Given the description of an element on the screen output the (x, y) to click on. 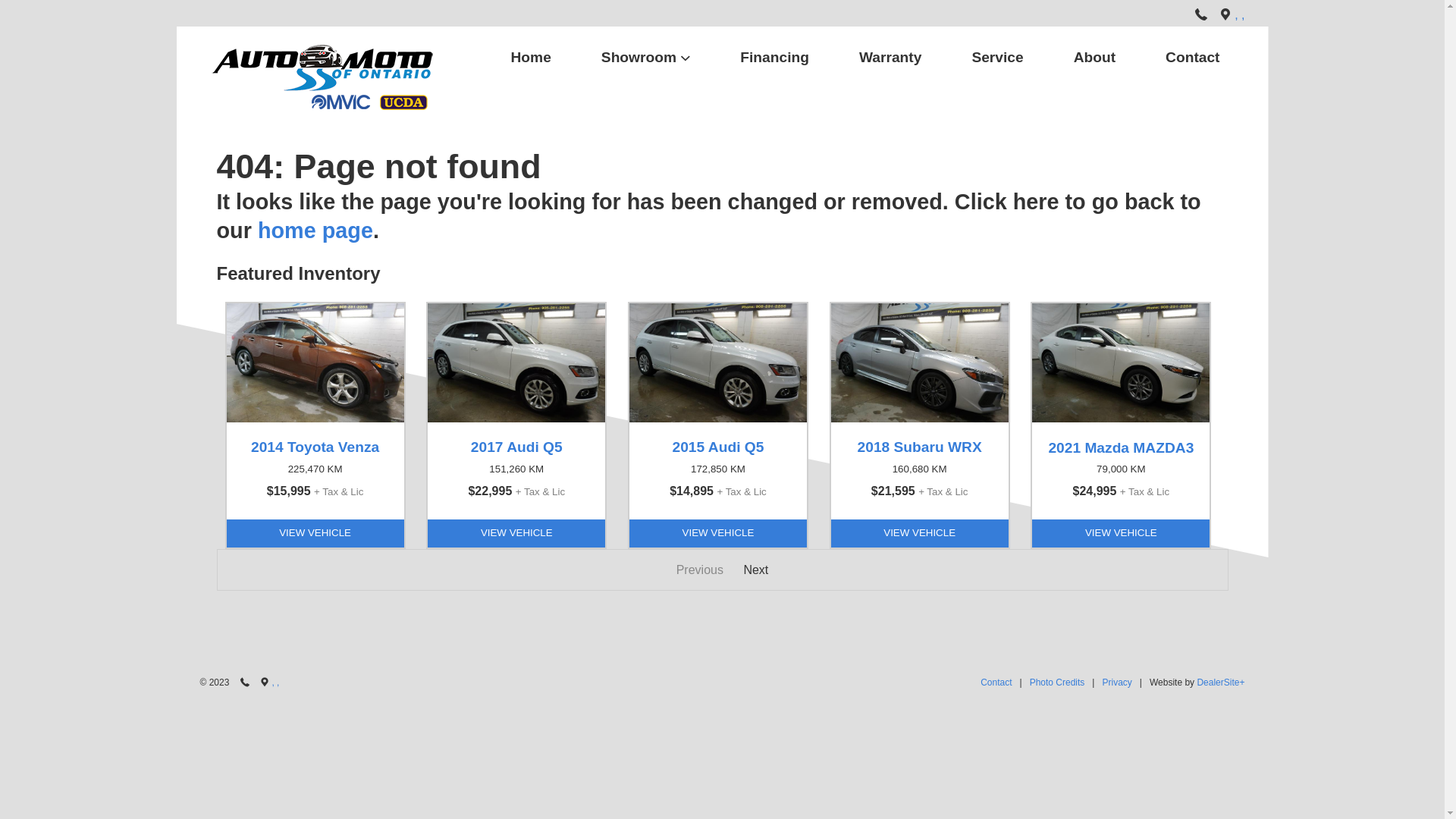
VIEW VEHICLE Element type: text (1120, 532)
2017 Audi Q5 Element type: text (516, 447)
Warranty Element type: text (890, 57)
2018 Subaru WRX Element type: text (919, 447)
2021 Mazda MAZDA3 Element type: text (1120, 447)
Financing Element type: text (774, 57)
Contact Element type: text (1192, 57)
Privacy Element type: text (1116, 682)
VIEW VEHICLE Element type: text (919, 532)
Skip to Menu Element type: text (721, 8)
DealerSite+ Element type: text (1220, 682)
, , Element type: text (1239, 14)
VIEW VEHICLE Element type: text (516, 532)
, , Element type: text (275, 682)
About Element type: text (1094, 57)
home page Element type: text (315, 230)
2014 Toyota Venza Element type: text (314, 447)
VIEW VEHICLE Element type: text (717, 532)
Photo Credits Element type: text (1057, 682)
VIEW VEHICLE Element type: text (314, 532)
Service Element type: text (996, 57)
Contact Element type: text (995, 682)
2015 Audi Q5 Element type: text (717, 447)
Home Element type: text (530, 57)
